Given the description of an element on the screen output the (x, y) to click on. 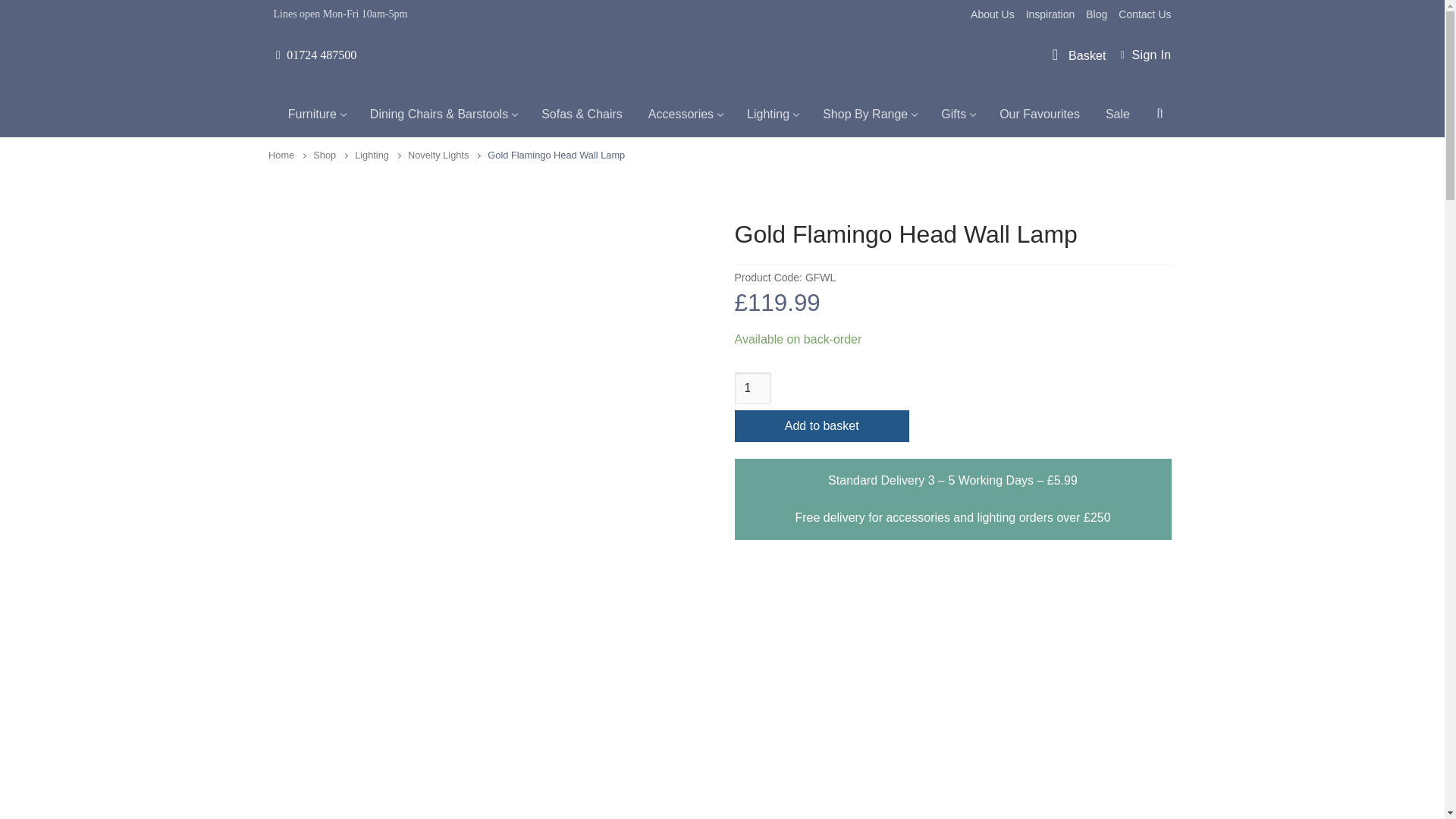
01724 487500 (314, 55)
Sign In (1144, 55)
Contact Us (1144, 14)
Blog (1096, 14)
Inspiration (1050, 14)
1 (751, 388)
Basket (1076, 55)
About Us (992, 14)
Sign In (1144, 55)
